Given the description of an element on the screen output the (x, y) to click on. 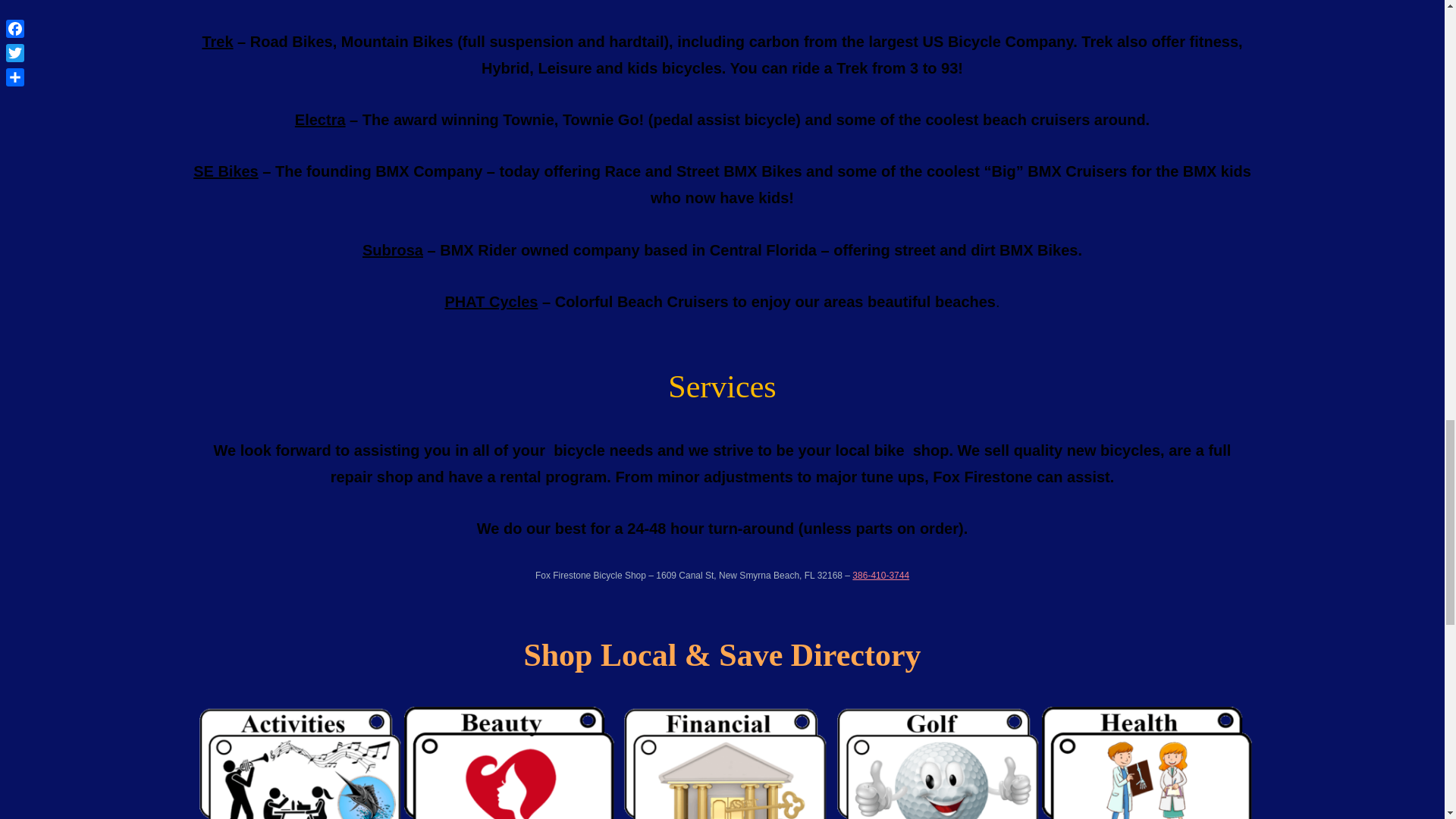
386-410-3744 (879, 575)
